Given the description of an element on the screen output the (x, y) to click on. 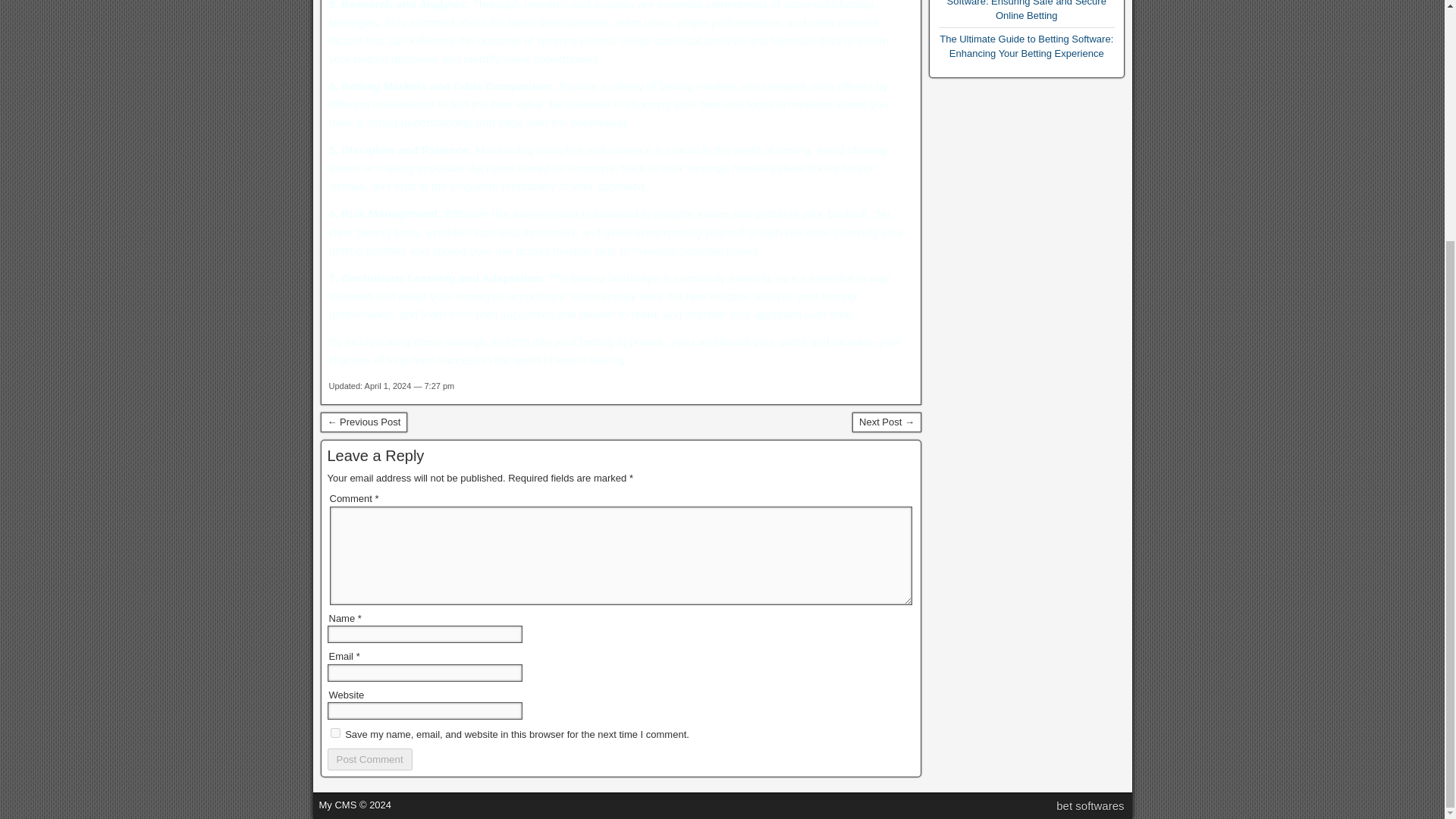
Post Comment (369, 759)
Post Comment (369, 759)
bet softwares (1090, 805)
yes (335, 732)
